Given the description of an element on the screen output the (x, y) to click on. 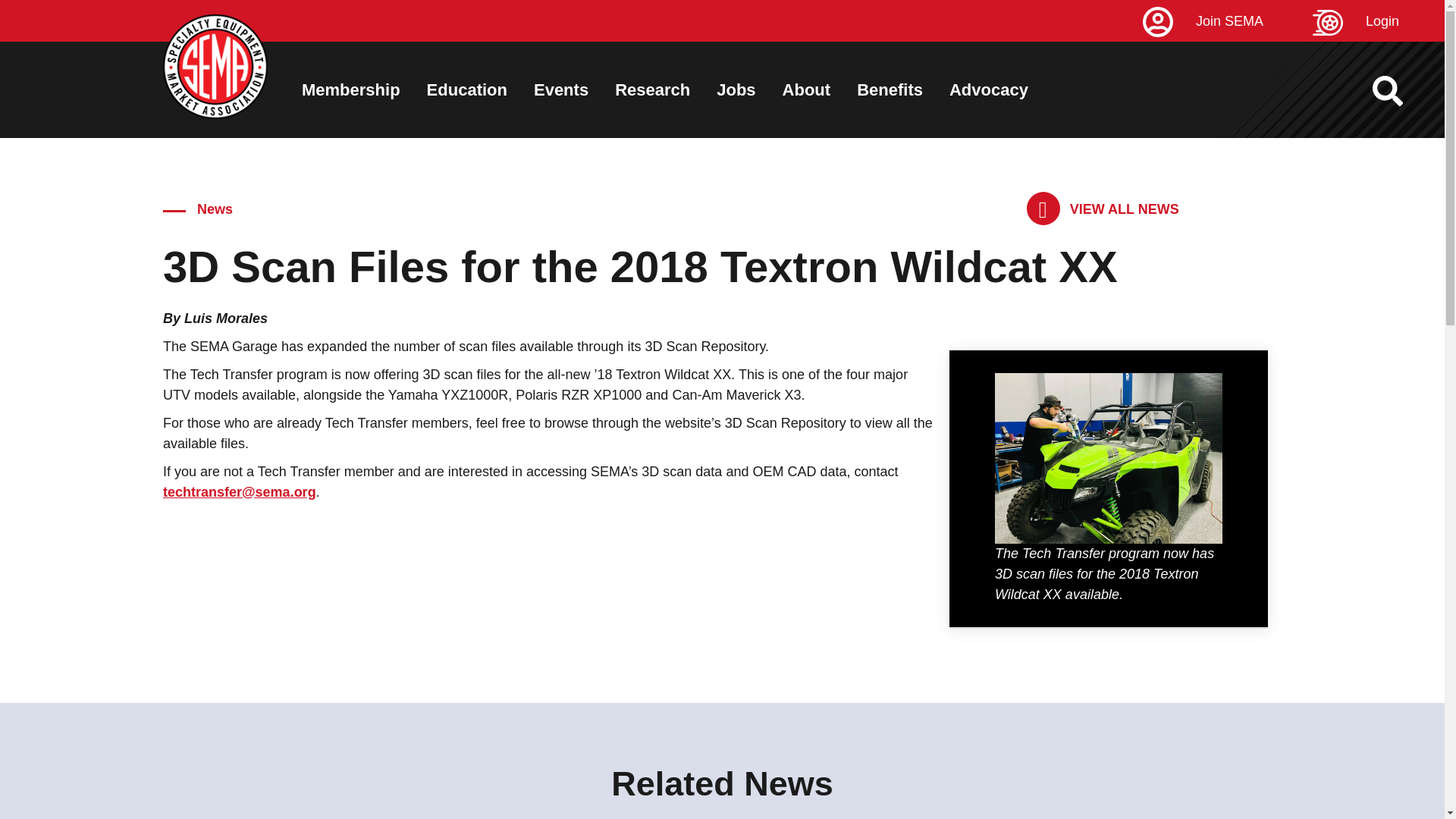
Search Sema.org (1401, 91)
Join SEMA (1225, 20)
Login (1378, 20)
Advocacy (988, 89)
Membership (350, 89)
Education (466, 89)
Research (652, 89)
Benefits (889, 89)
VIEW ALL NEWS (1102, 209)
